Given the description of an element on the screen output the (x, y) to click on. 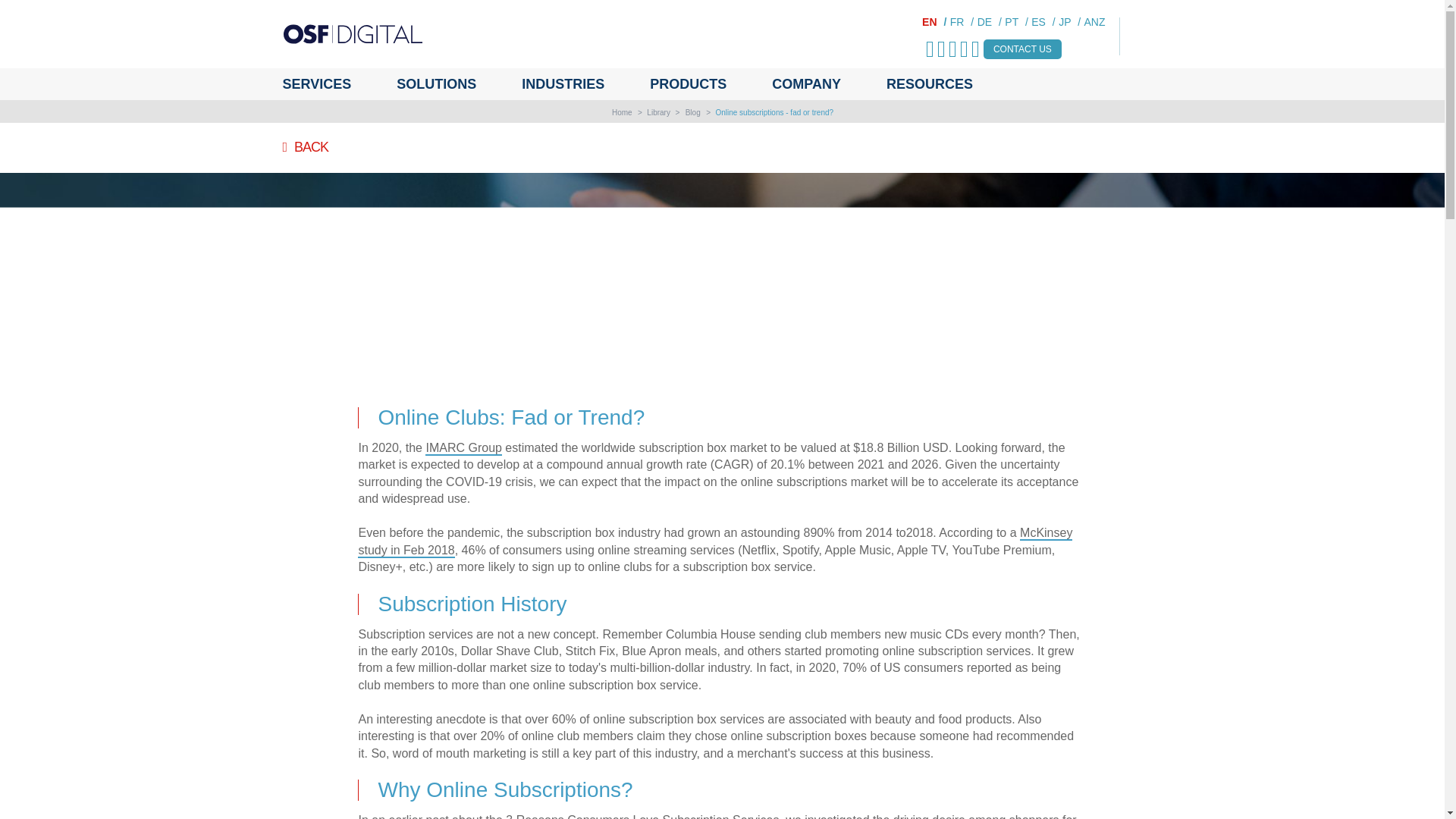
SERVICES (328, 83)
FR (962, 21)
ANZ (1095, 21)
DE (988, 21)
Go (9, 9)
CONTACT US (1022, 48)
EN (933, 21)
Contact Us (1022, 48)
PT (1015, 21)
JP (1069, 21)
